Given the description of an element on the screen output the (x, y) to click on. 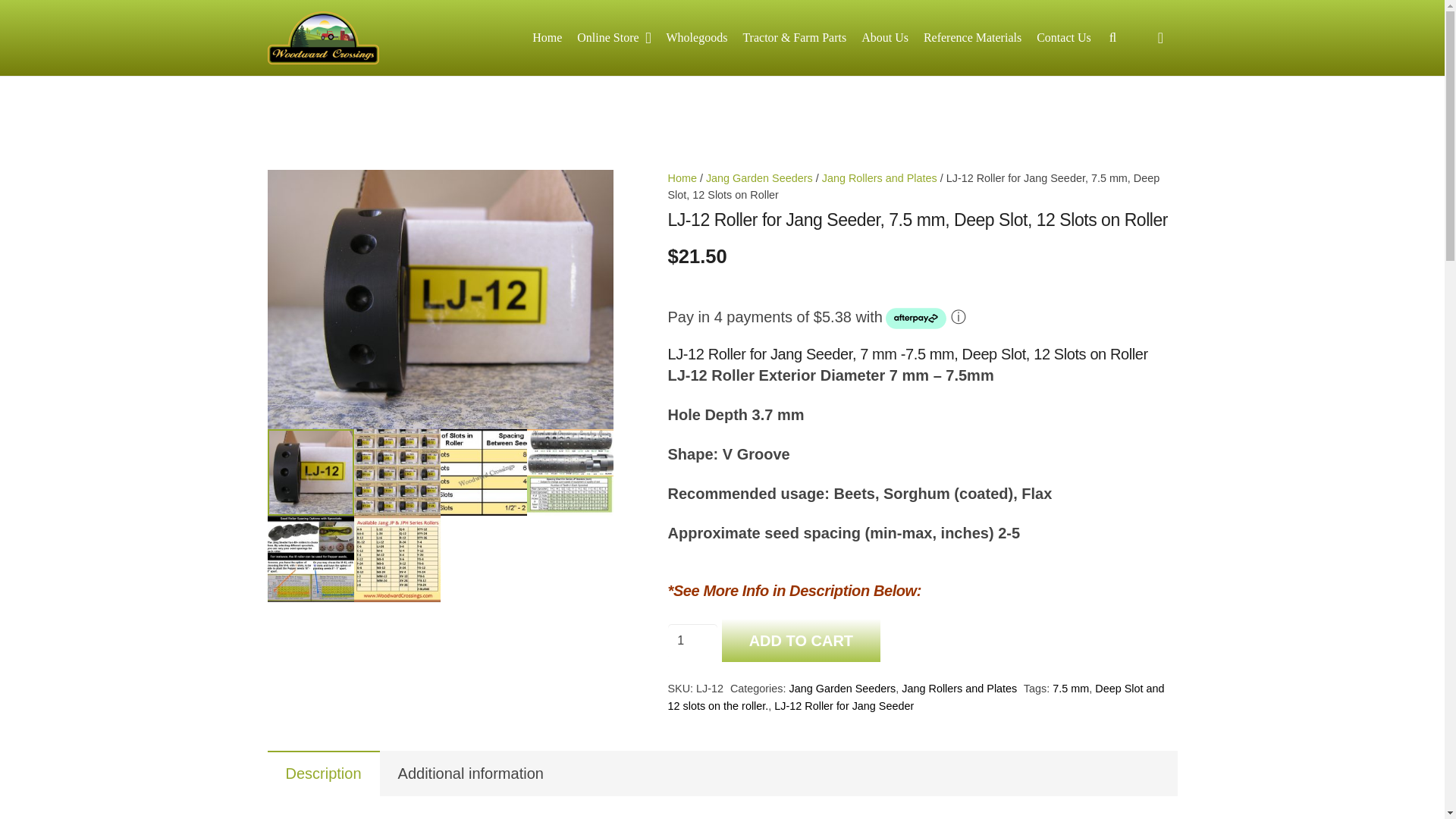
Reference Materials (972, 37)
Wholegoods (697, 37)
LJ-12 Roller for Jang Seeder (439, 299)
Contact Us (1064, 37)
Afterpay (915, 318)
1 (691, 641)
Online Store (613, 37)
Home (546, 37)
About Us (884, 37)
